Given the description of an element on the screen output the (x, y) to click on. 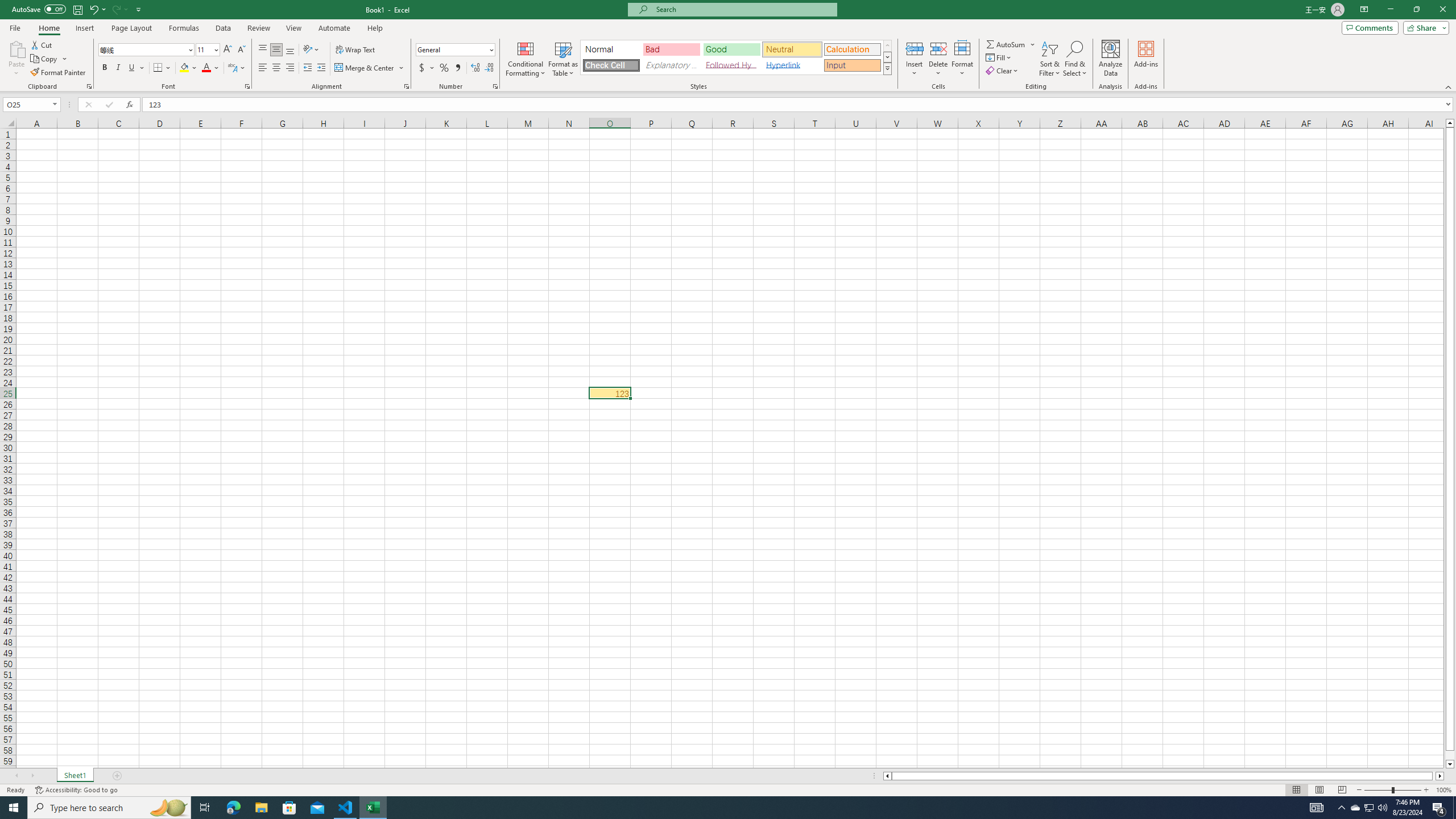
Underline (136, 67)
System (6, 6)
Column left (886, 775)
Comma Style (457, 67)
Number Format (451, 49)
Decrease Indent (307, 67)
Explanatory Text (671, 65)
Merge & Center (369, 67)
Sort & Filter (1049, 58)
Save (77, 9)
Orientation (311, 49)
Merge & Center (365, 67)
Bottom Border (157, 67)
Input (852, 65)
Automate (334, 28)
